Given the description of an element on the screen output the (x, y) to click on. 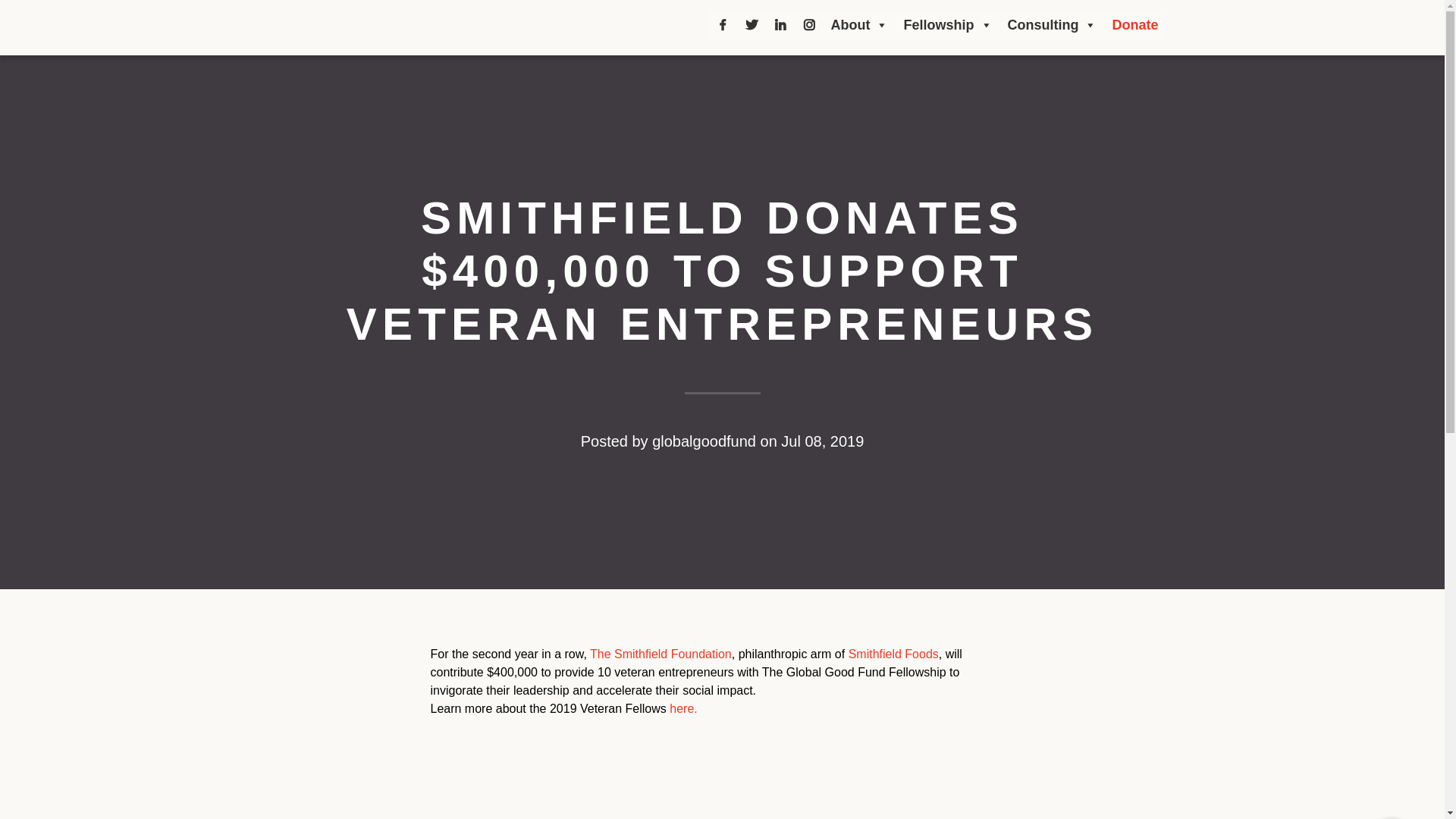
The Smithfield Foundation (660, 653)
here. (683, 707)
Smithfield Foods (893, 653)
About (860, 24)
Consulting (1050, 24)
Fellowship (946, 24)
Donate (1134, 24)
